Given the description of an element on the screen output the (x, y) to click on. 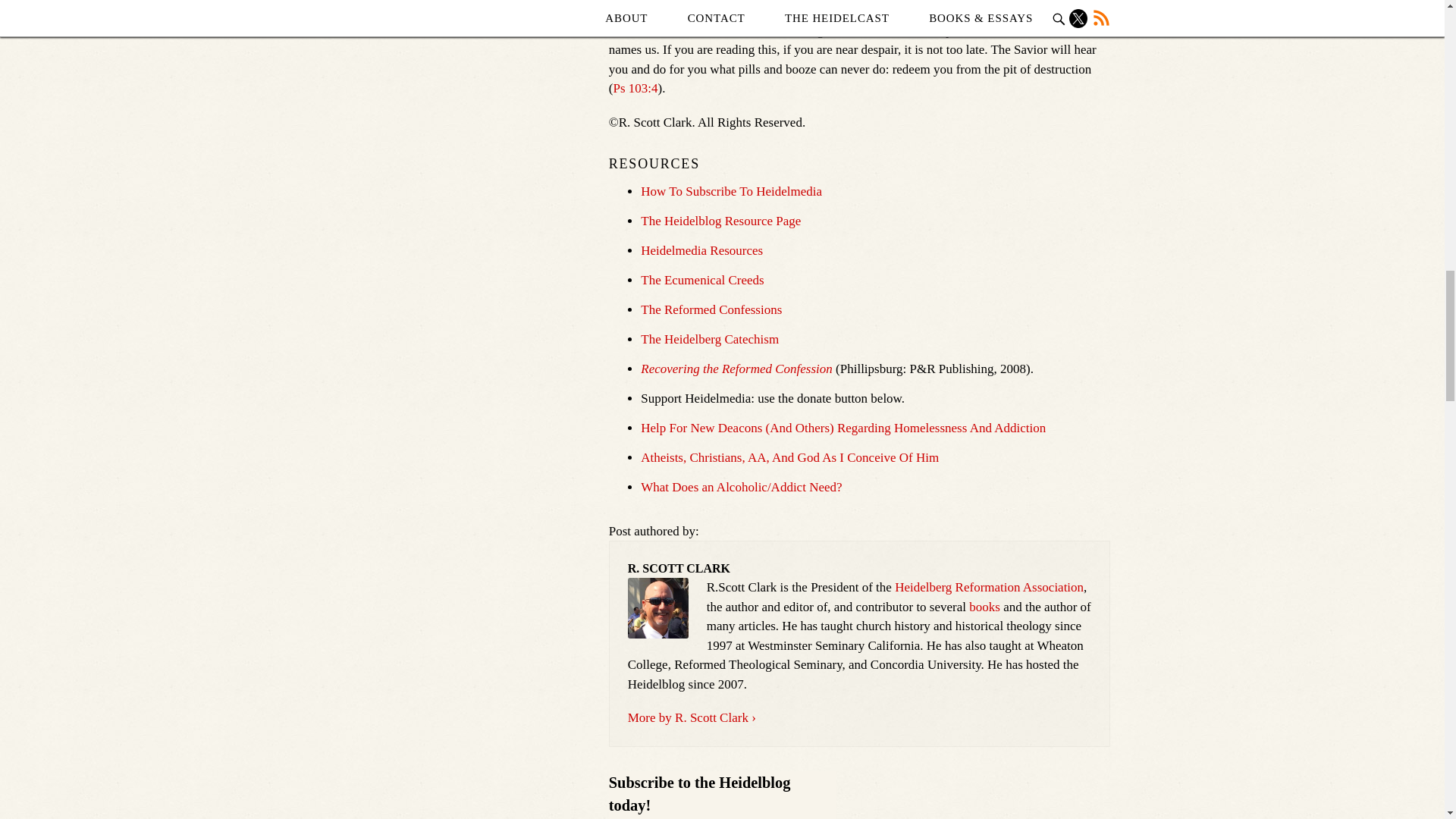
The Ecumenical Creeds (701, 279)
Heidelberg Reformation Association (989, 586)
Atheists, Christians, AA, And God As I Conceive Of Him (789, 457)
books (984, 606)
Ps 103:4 (635, 88)
The Heidelblog Resource Page (720, 220)
The Reformed Confessions (710, 309)
Recovering the Reformed Confession (736, 368)
The Heidelberg Catechism (709, 339)
Heidelmedia Resources (701, 250)
How To Subscribe To Heidelmedia (731, 191)
